Given the description of an element on the screen output the (x, y) to click on. 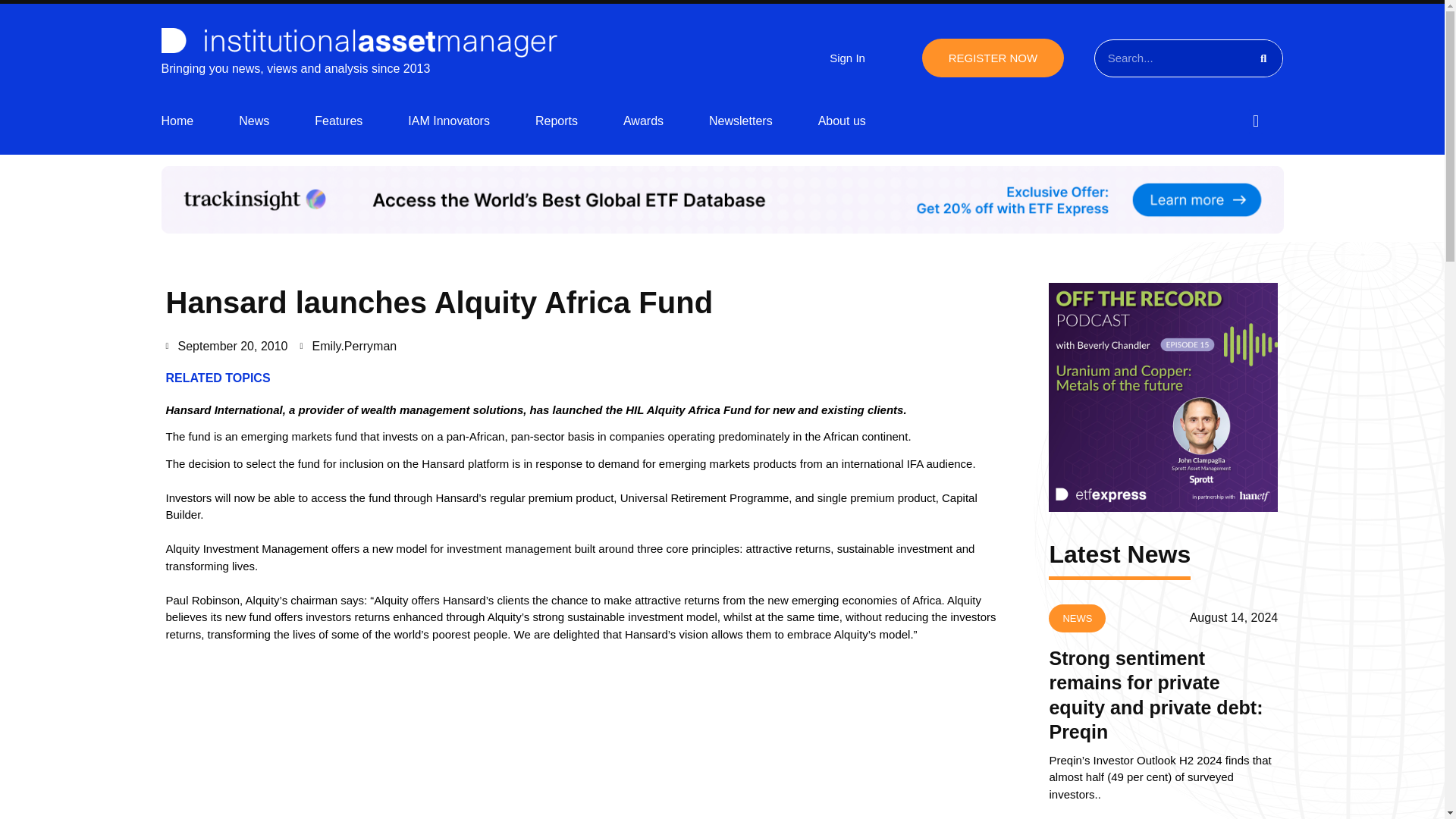
Newsletters (741, 121)
Features (338, 121)
Sign In (847, 57)
REGISTER NOW (992, 57)
IAM Innovators (448, 121)
Home (176, 121)
About us (842, 121)
Awards (643, 121)
Reports (556, 121)
